Given the description of an element on the screen output the (x, y) to click on. 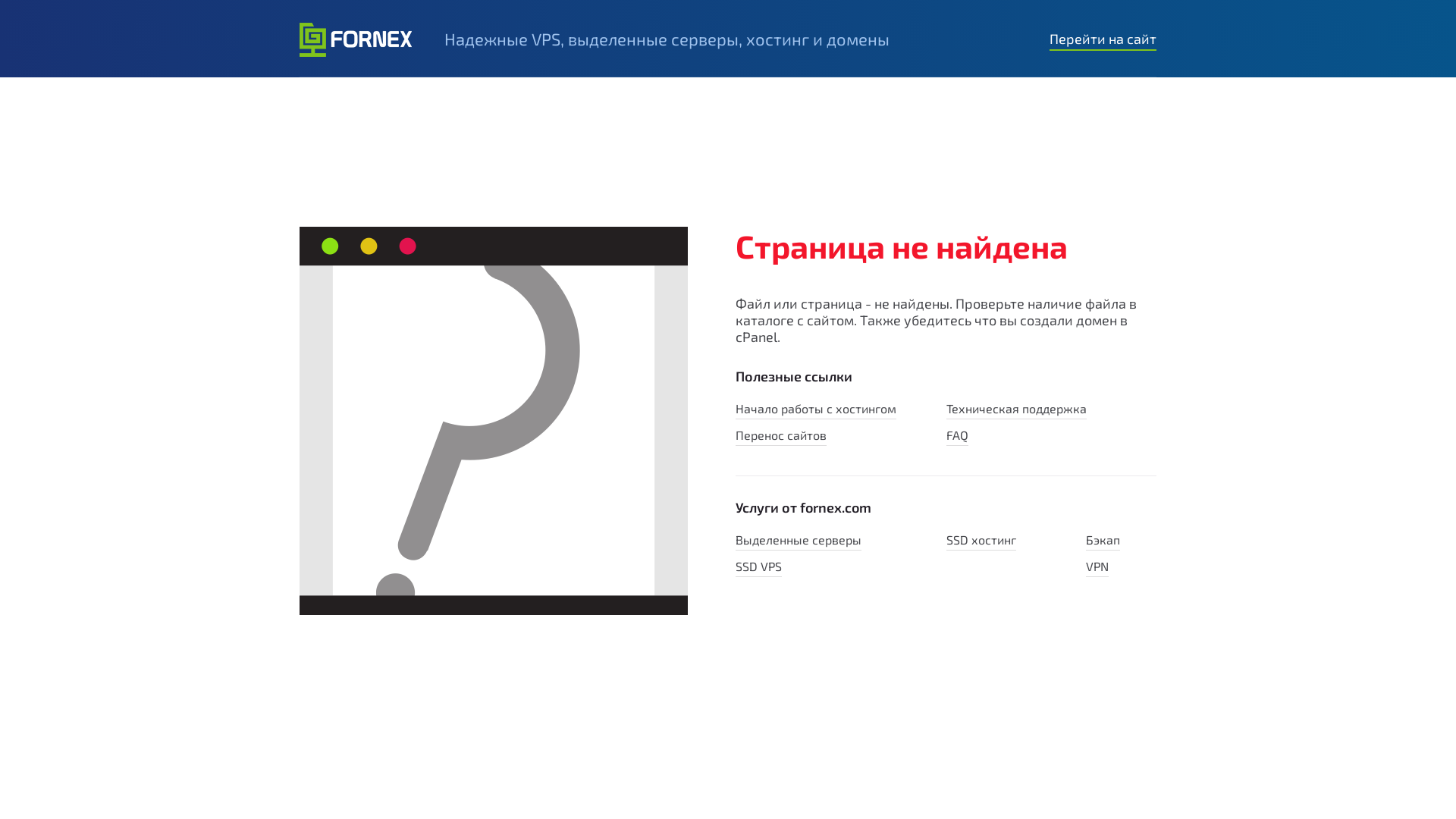
SSD VPS Element type: text (758, 567)
FAQ Element type: text (957, 436)
VPN Element type: text (1096, 567)
